Given the description of an element on the screen output the (x, y) to click on. 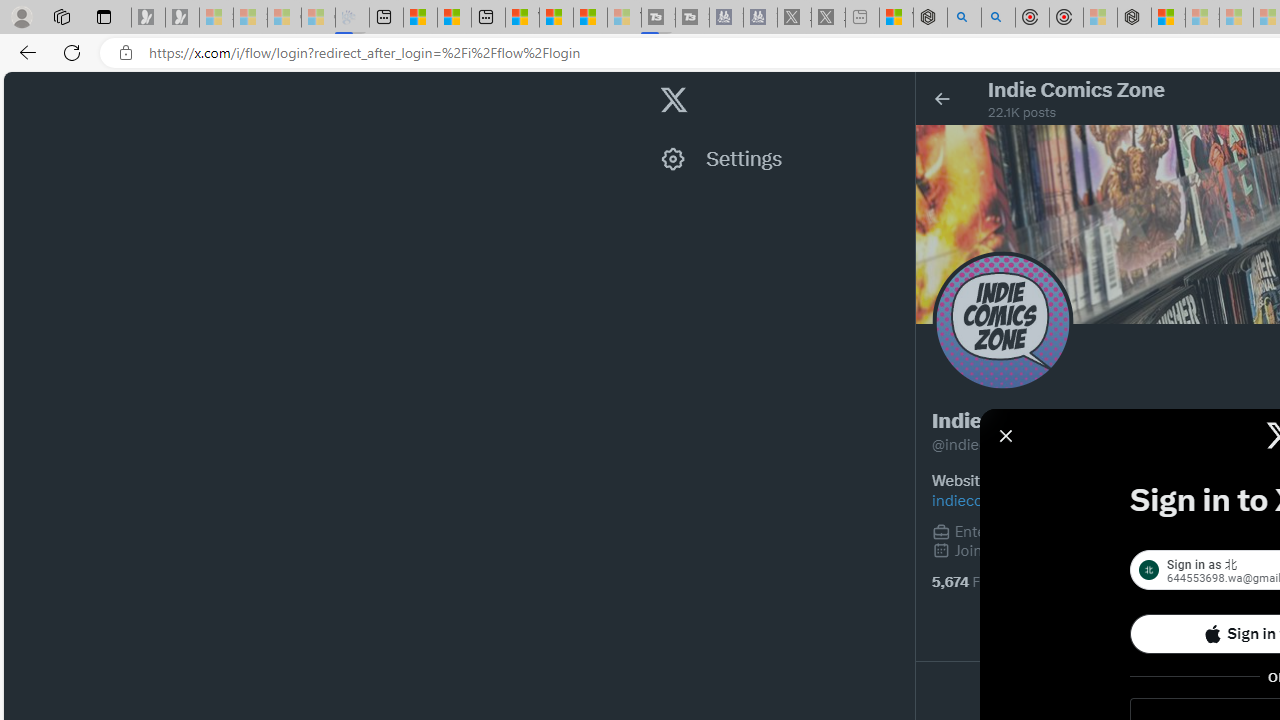
Nordace - Summer Adventures 2024 (930, 17)
poe - Search (964, 17)
New tab - Sleeping (862, 17)
Newsletter Sign Up - Sleeping (182, 17)
